Given the description of an element on the screen output the (x, y) to click on. 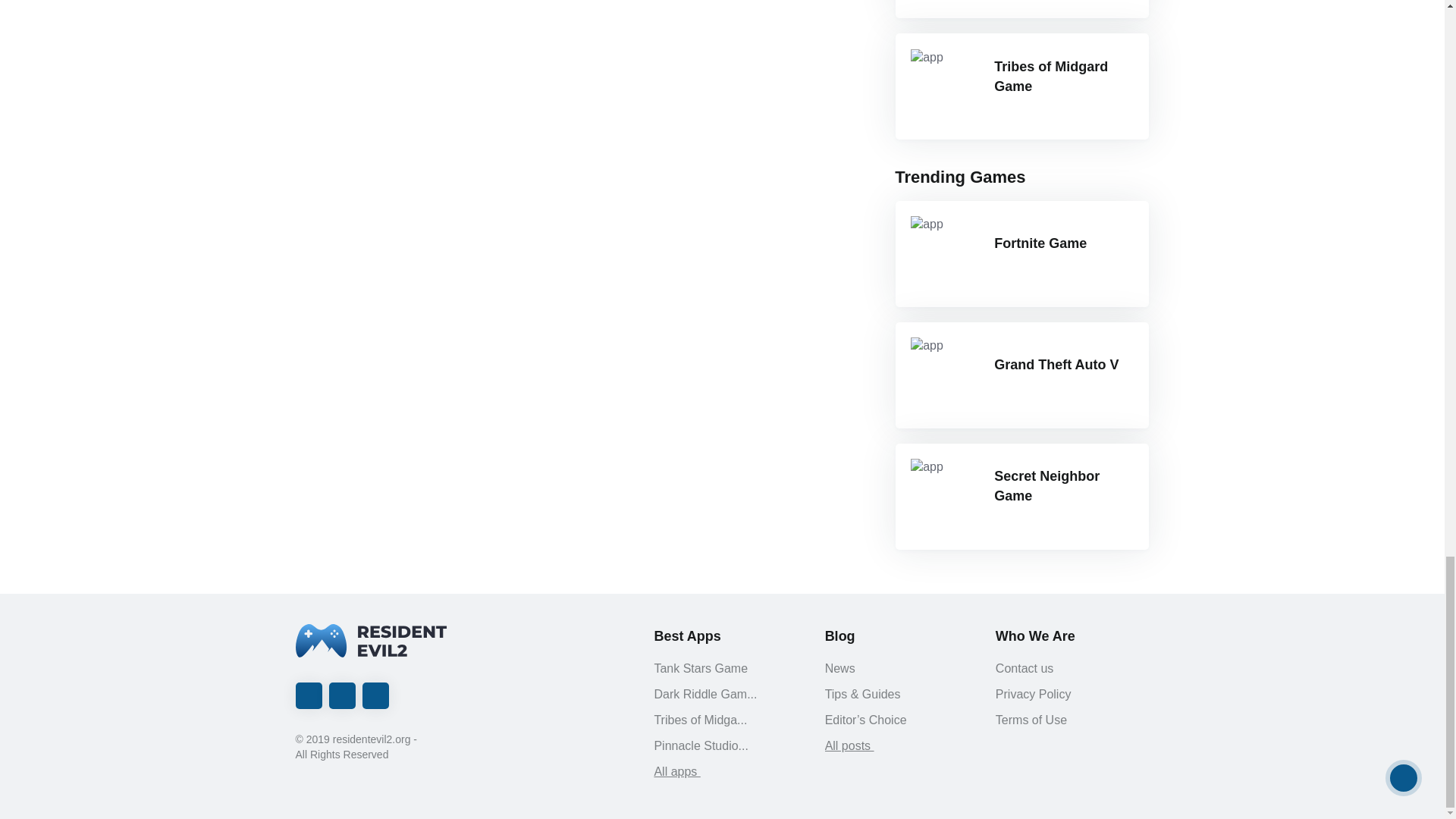
All apps (726, 771)
Pinnacle Studio... (726, 746)
Fortnite Game (1021, 253)
Dark Riddle Game (1021, 9)
Tank Stars Game (726, 669)
News (898, 669)
Tribes of Midga... (726, 720)
Dark Riddle Gam... (726, 694)
Grand Theft Auto V (1021, 375)
Secret Neighbor Game (1021, 496)
Tribes of Midgard Game (1021, 86)
